Given the description of an element on the screen output the (x, y) to click on. 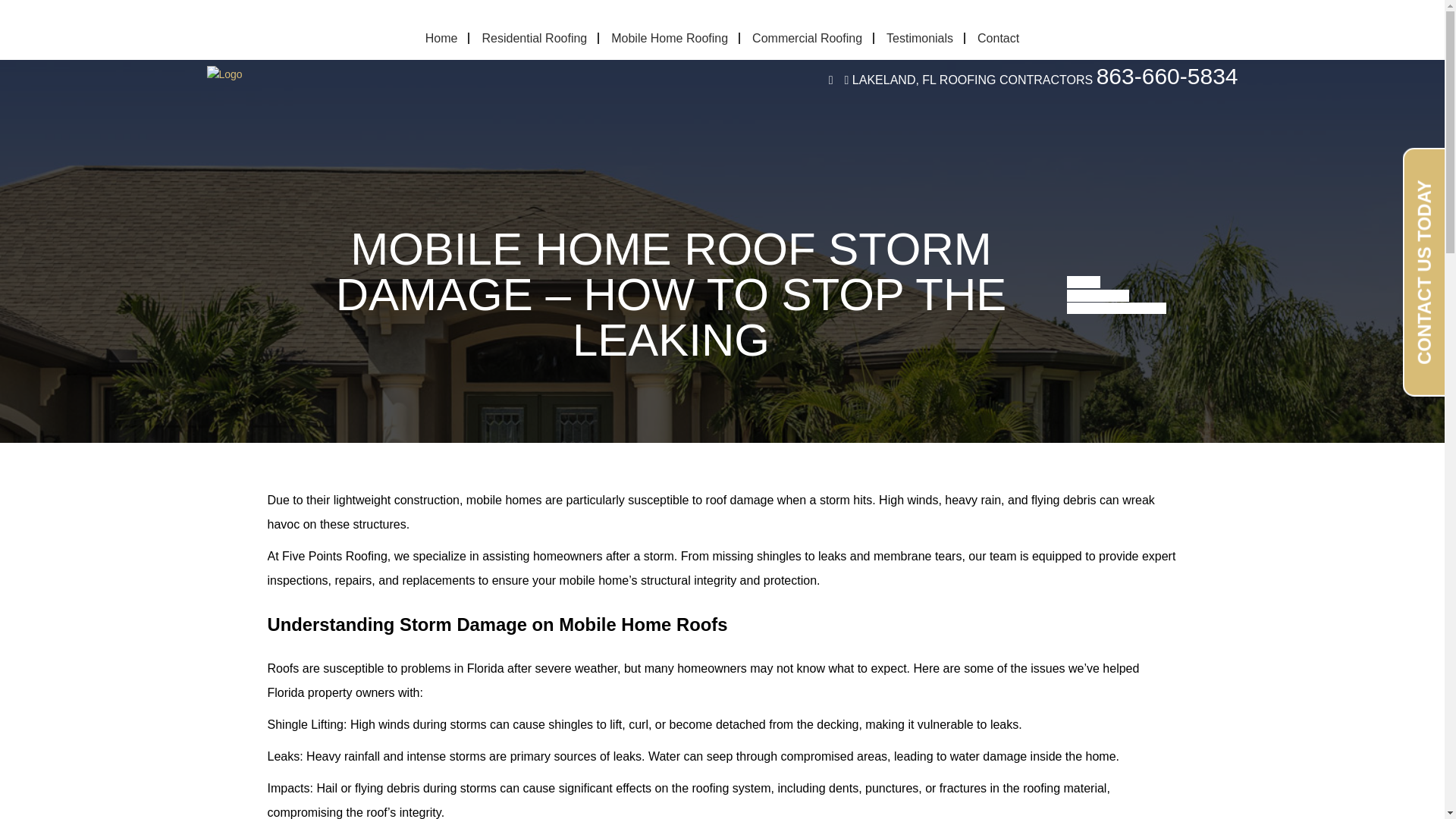
863-660-5834 (1167, 76)
Residential Roofing (533, 38)
Testimonials (920, 38)
Home (441, 38)
Contact (997, 38)
Mobile Home Roofing (668, 38)
Commercial Roofing (807, 38)
